Given the description of an element on the screen output the (x, y) to click on. 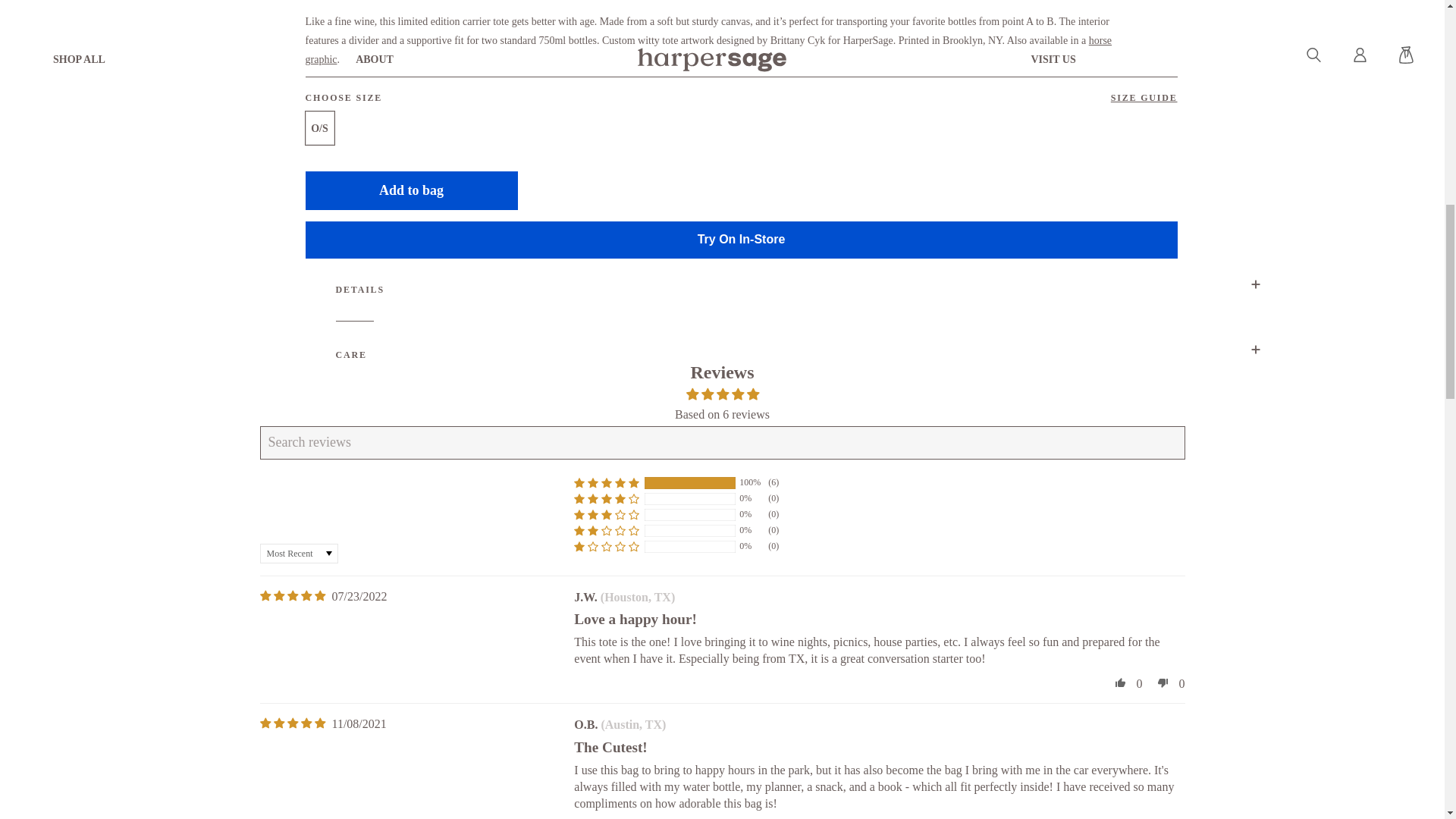
Try On In-Store (740, 239)
down (1162, 817)
up (1120, 817)
horse graphic (708, 50)
Based on 6 reviews (722, 413)
up (1120, 681)
SIZE GUIDE (1143, 97)
Add to bag (410, 190)
down (1162, 681)
